Given the description of an element on the screen output the (x, y) to click on. 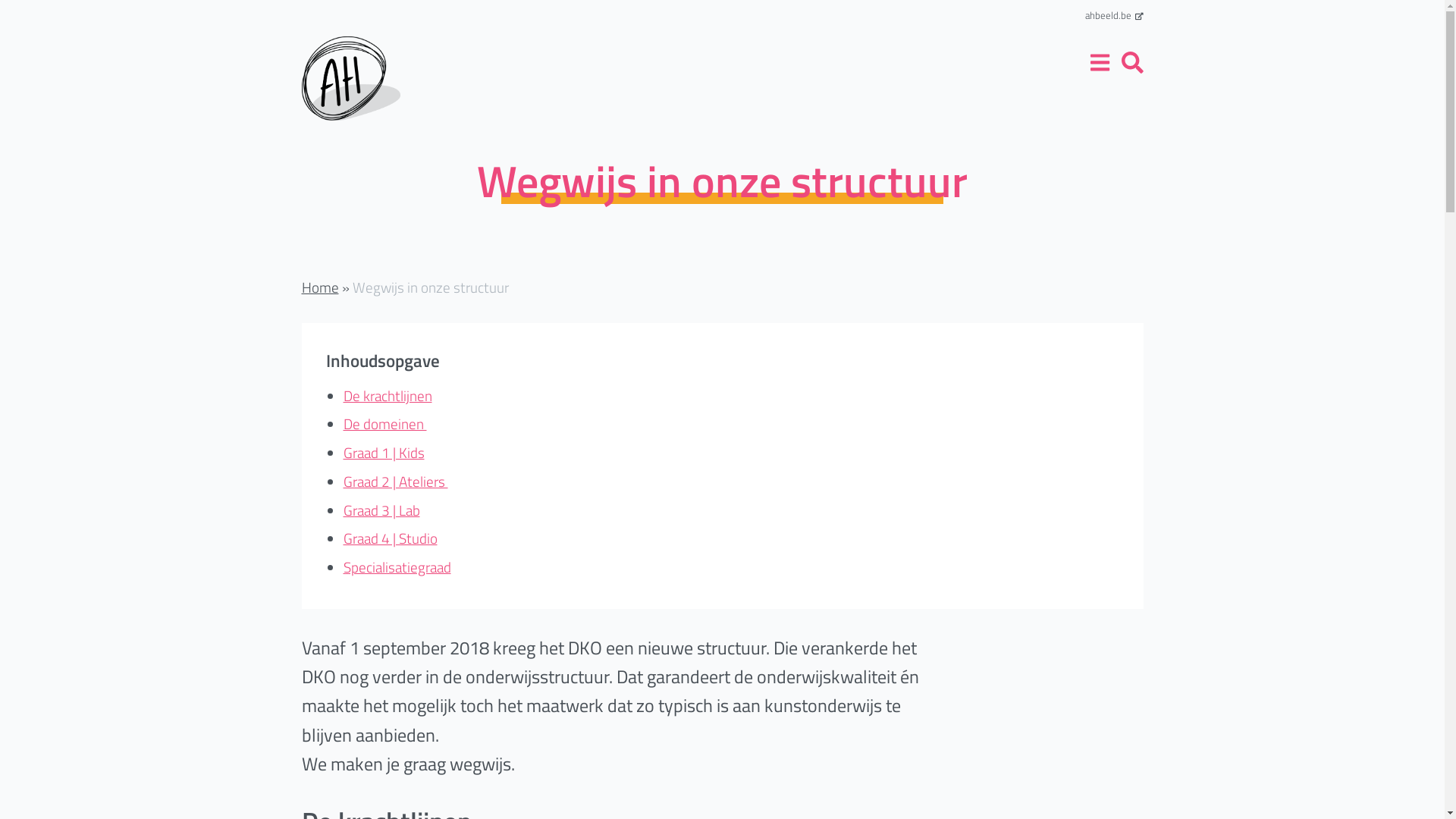
Home Element type: text (319, 287)
Graad 3 | Lab Element type: text (380, 509)
Specialisatiegraad Element type: text (396, 566)
De krachtlijnen Element type: text (386, 395)
Graad 4 | Studio Element type: text (389, 538)
ahbeeld.be Element type: text (1113, 14)
Zoeken Element type: text (958, 319)
De domeinen  Element type: text (384, 423)
Graad 1 | Kids Element type: text (382, 452)
Graad 2 | Ateliers  Element type: text (394, 481)
